Given the description of an element on the screen output the (x, y) to click on. 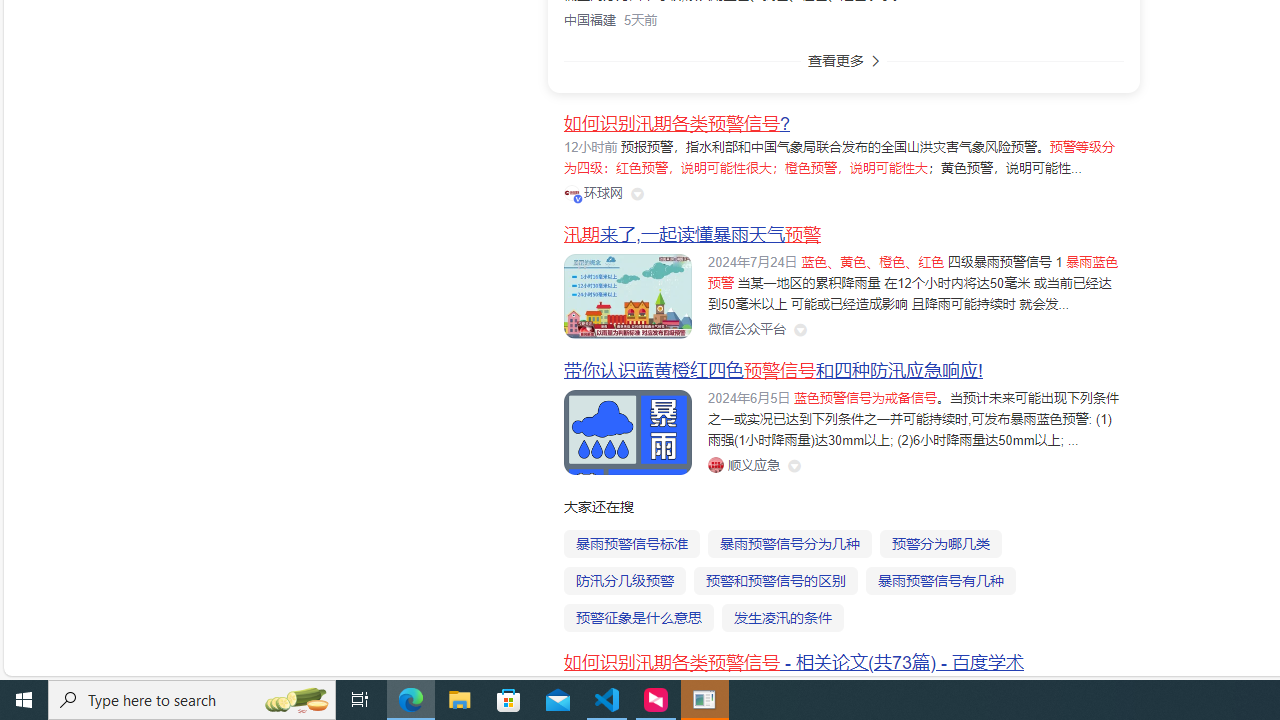
Class: siteLink_9TPP3 (743, 465)
Class: vip-icon_kNmNt (577, 198)
